Given the description of an element on the screen output the (x, y) to click on. 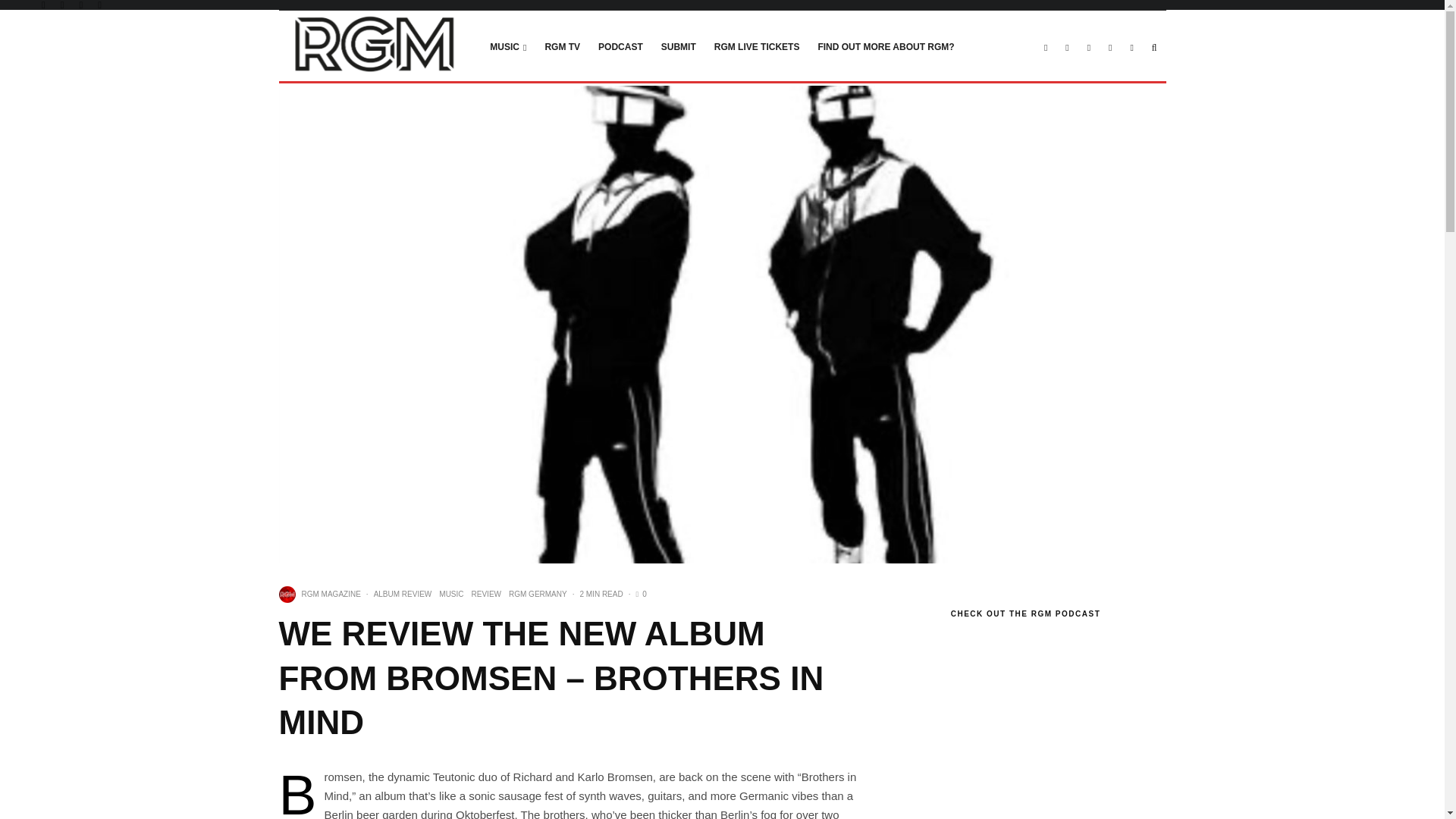
FIND OUT MORE ABOUT RGM? (885, 45)
PODCAST (620, 45)
RGM LIVE TICKETS (756, 45)
RGM MAGAZINE (331, 593)
ALBUM REVIEW (403, 594)
